Given the description of an element on the screen output the (x, y) to click on. 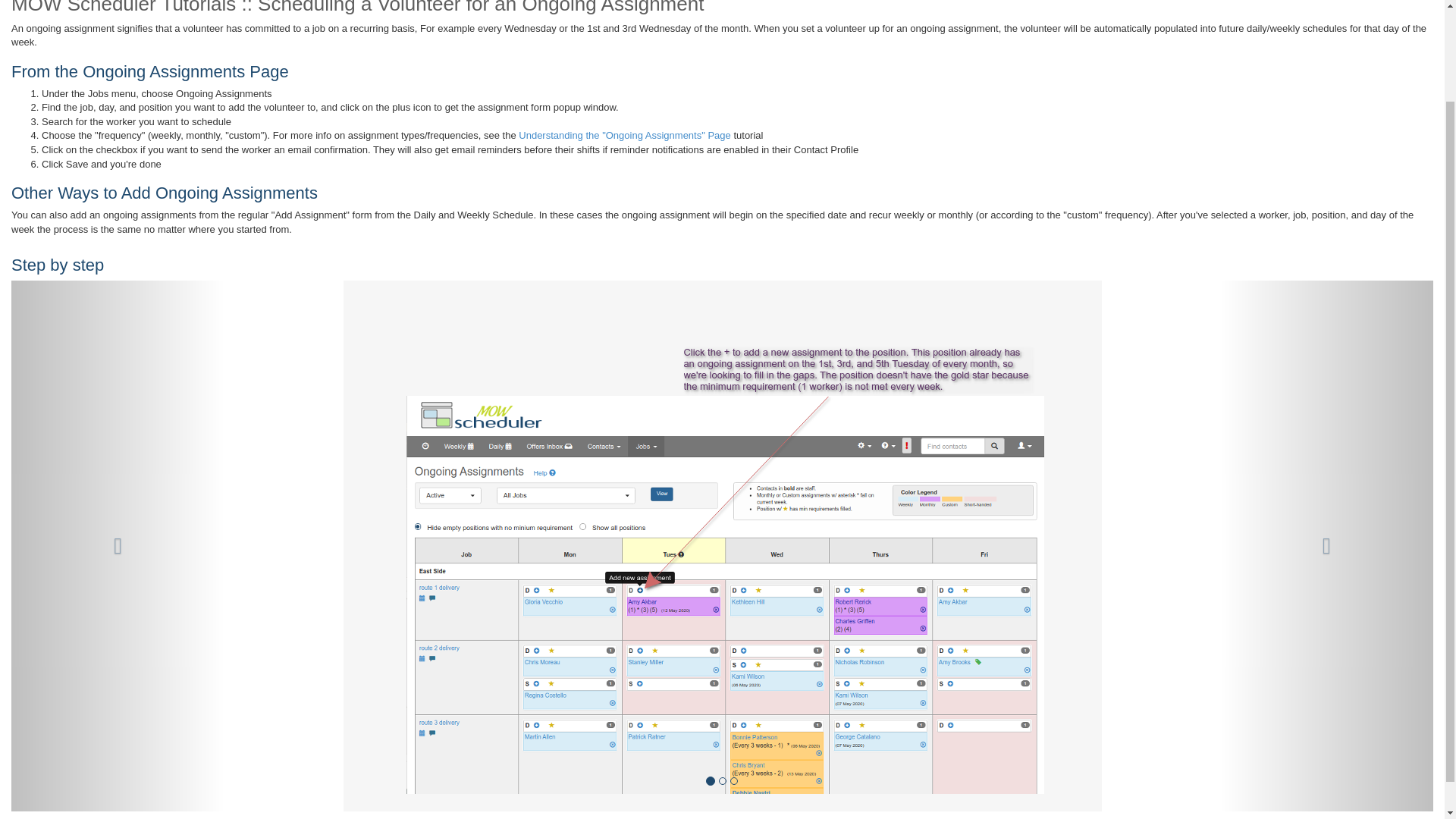
Next (1326, 545)
Understanding the "Ongoing Assignments" Page (624, 134)
Previous (117, 545)
